Given the description of an element on the screen output the (x, y) to click on. 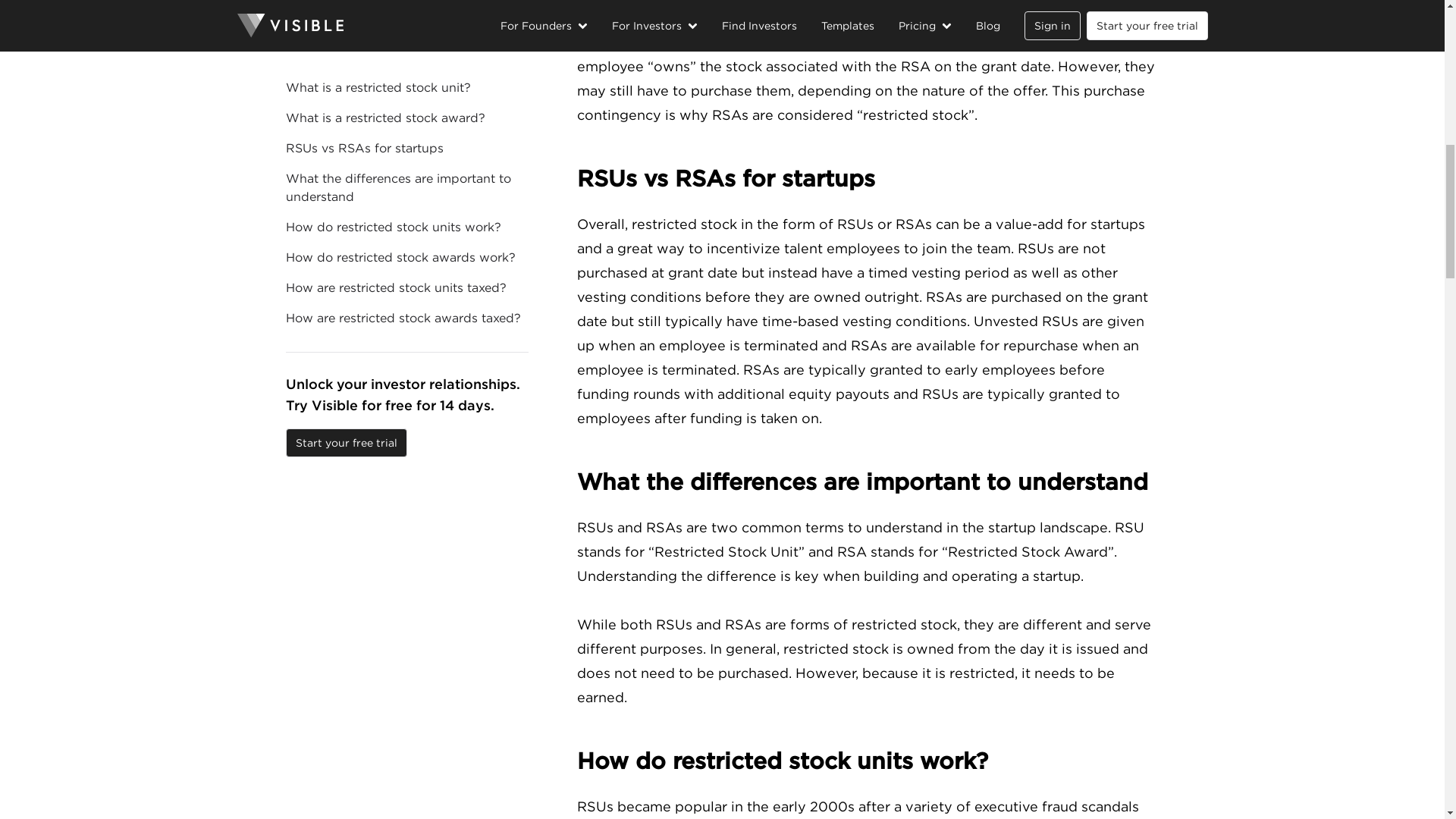
How do restricted stock units work? (867, 761)
RSUs vs RSAs for startups (867, 178)
What the differences are important to understand (867, 481)
